Given the description of an element on the screen output the (x, y) to click on. 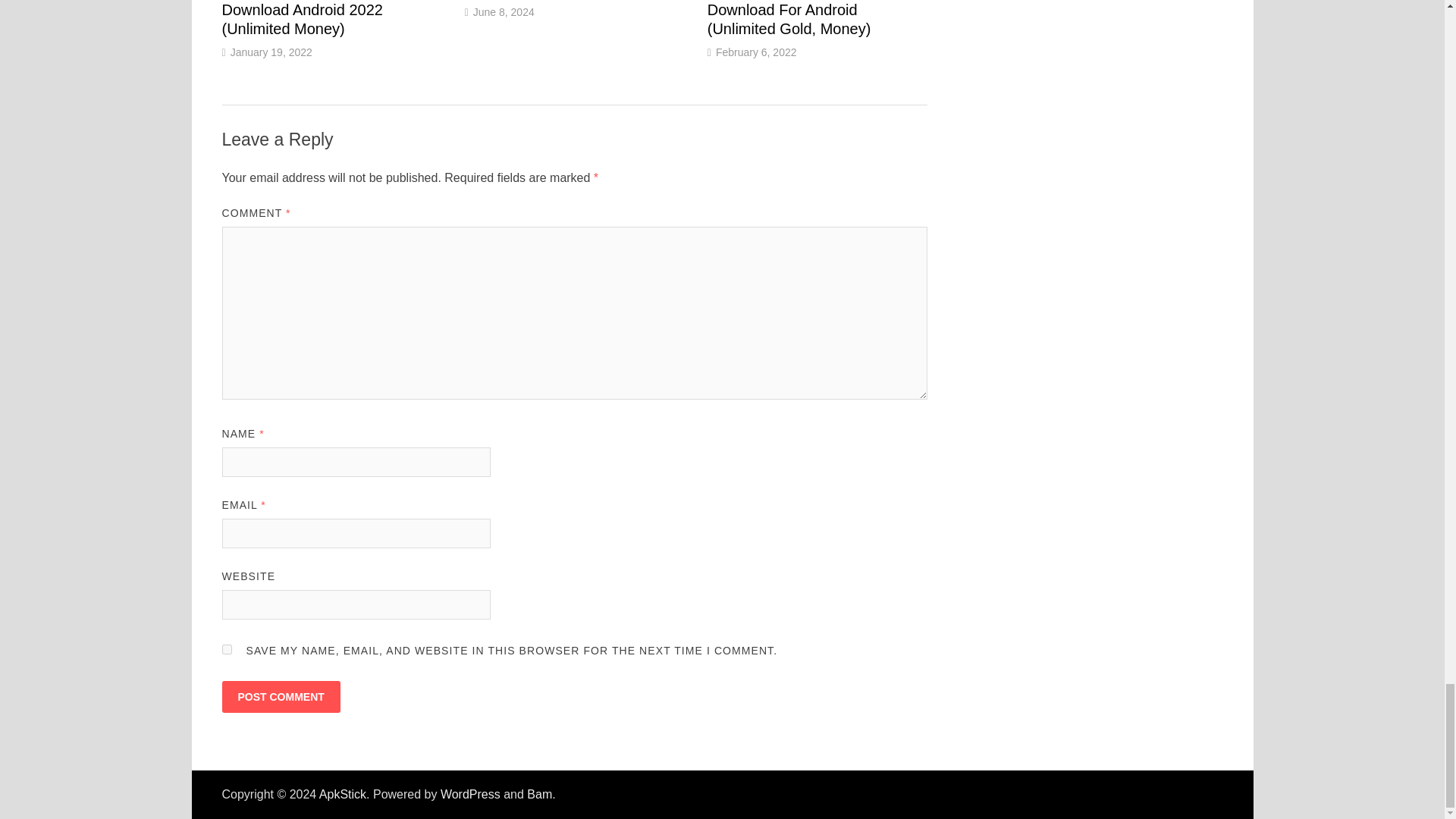
Post Comment (280, 696)
January 19, 2022 (271, 51)
ApkStick (342, 793)
ApkStick (342, 793)
February 6, 2022 (756, 51)
June 8, 2024 (503, 11)
yes (226, 649)
Post Comment (280, 696)
